Given the description of an element on the screen output the (x, y) to click on. 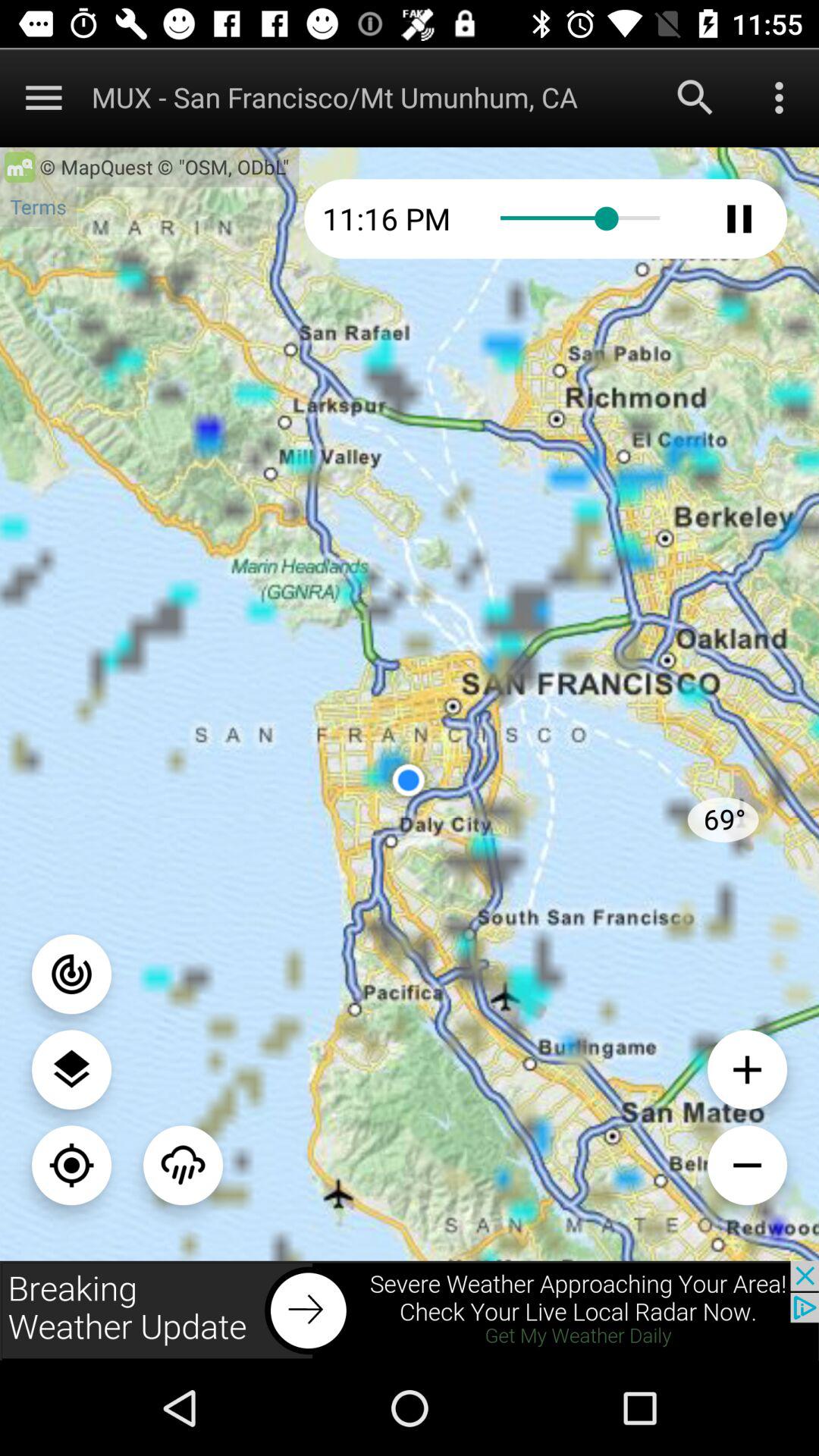
climate searching option (182, 1165)
